Given the description of an element on the screen output the (x, y) to click on. 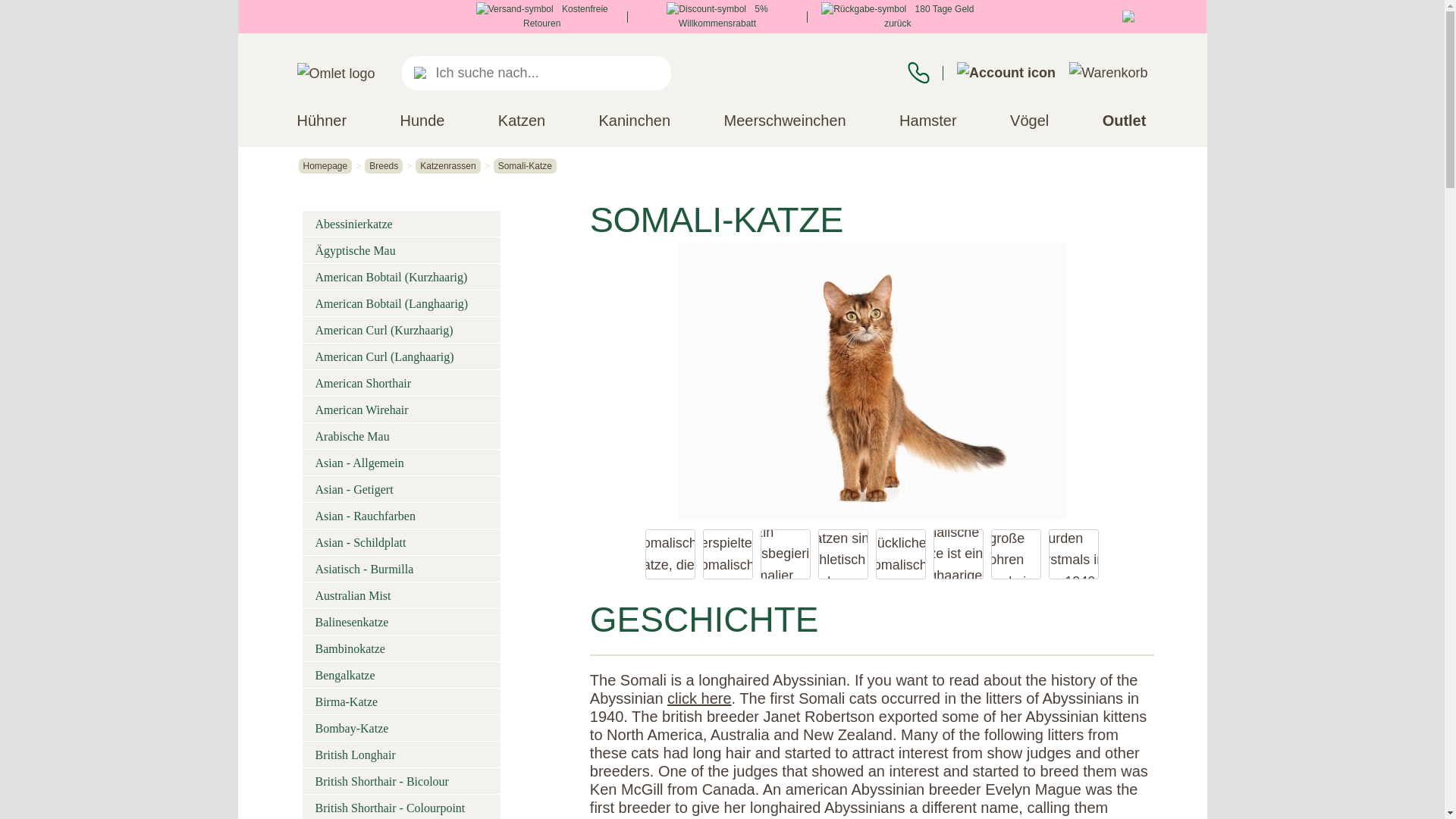
Omlet (336, 74)
Warenkorb (1107, 73)
Kundenkonto (1005, 73)
Deutschland (1131, 17)
Kostenfreie Retouren (542, 16)
Versand (514, 9)
Discount-symbol (705, 9)
Kontaktiere uns (918, 73)
